Given the description of an element on the screen output the (x, y) to click on. 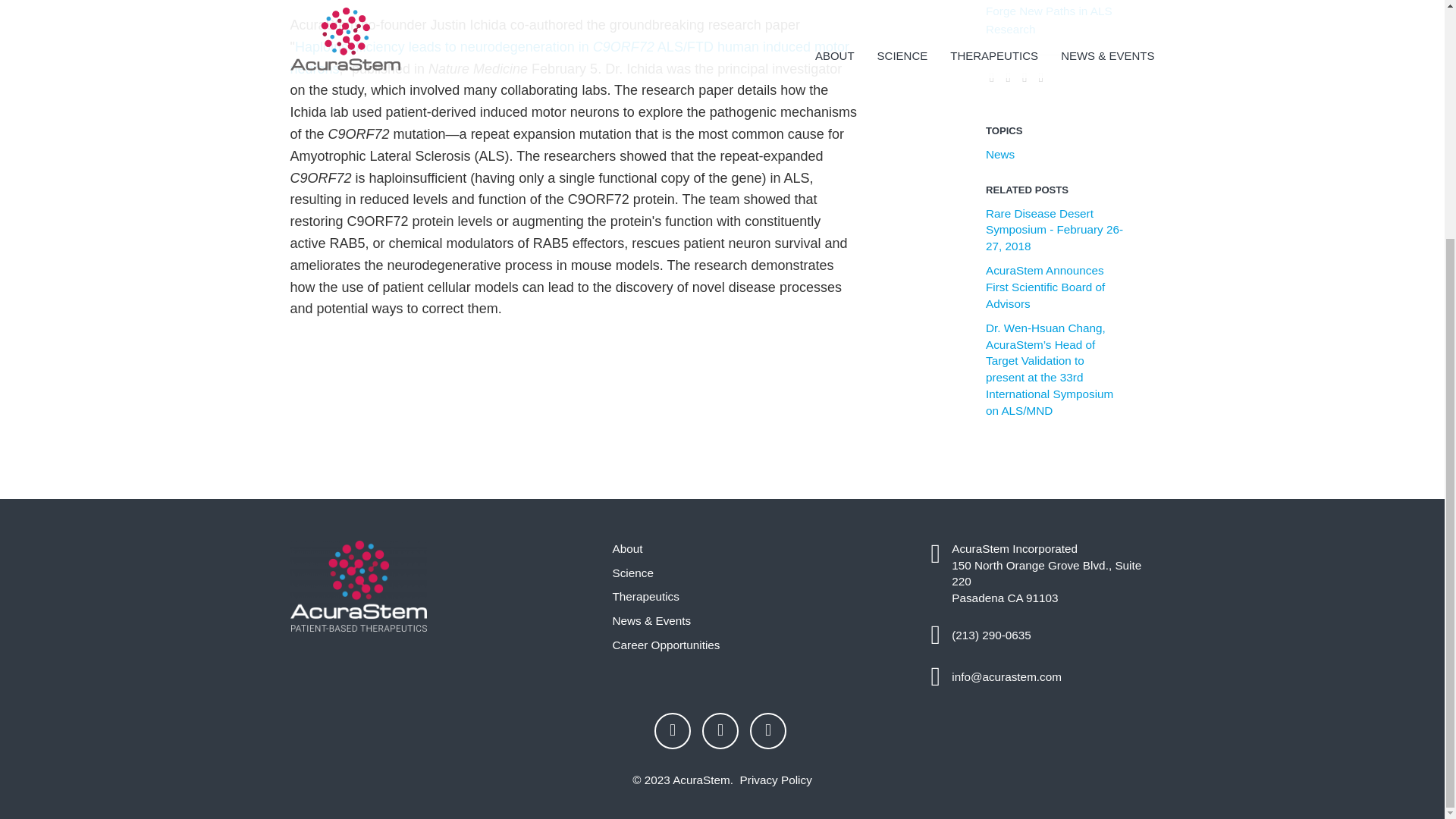
Career Opportunities (735, 645)
Science (735, 573)
Rare Disease Desert Symposium - February 26-27, 2018 (1053, 230)
About (735, 548)
News (999, 154)
AcuraStem Announces First Scientific Board of Advisors (1045, 286)
Privacy Policy (775, 779)
Therapeutics (735, 596)
